Given the description of an element on the screen output the (x, y) to click on. 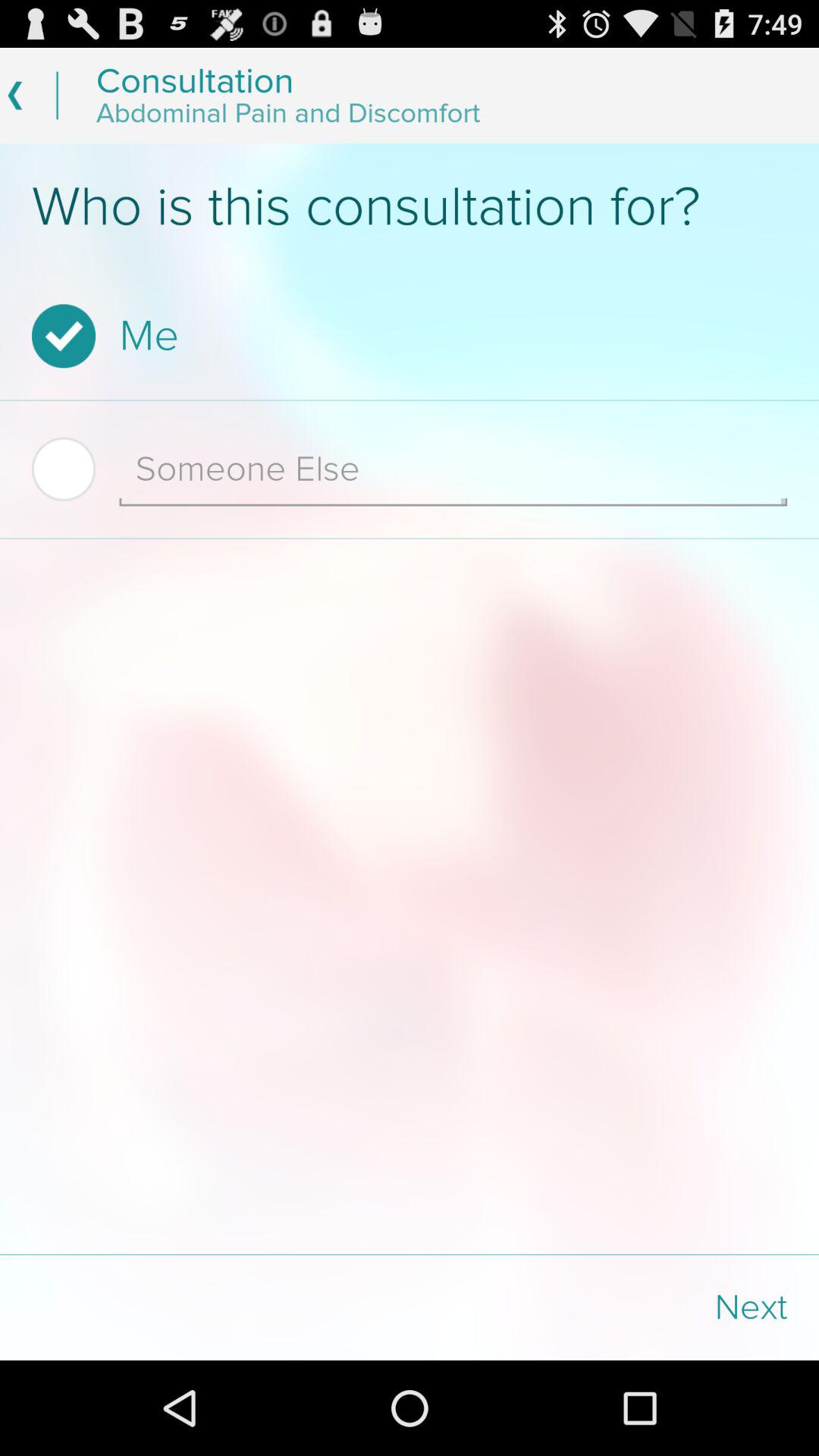
jump until the who is this icon (409, 207)
